Given the description of an element on the screen output the (x, y) to click on. 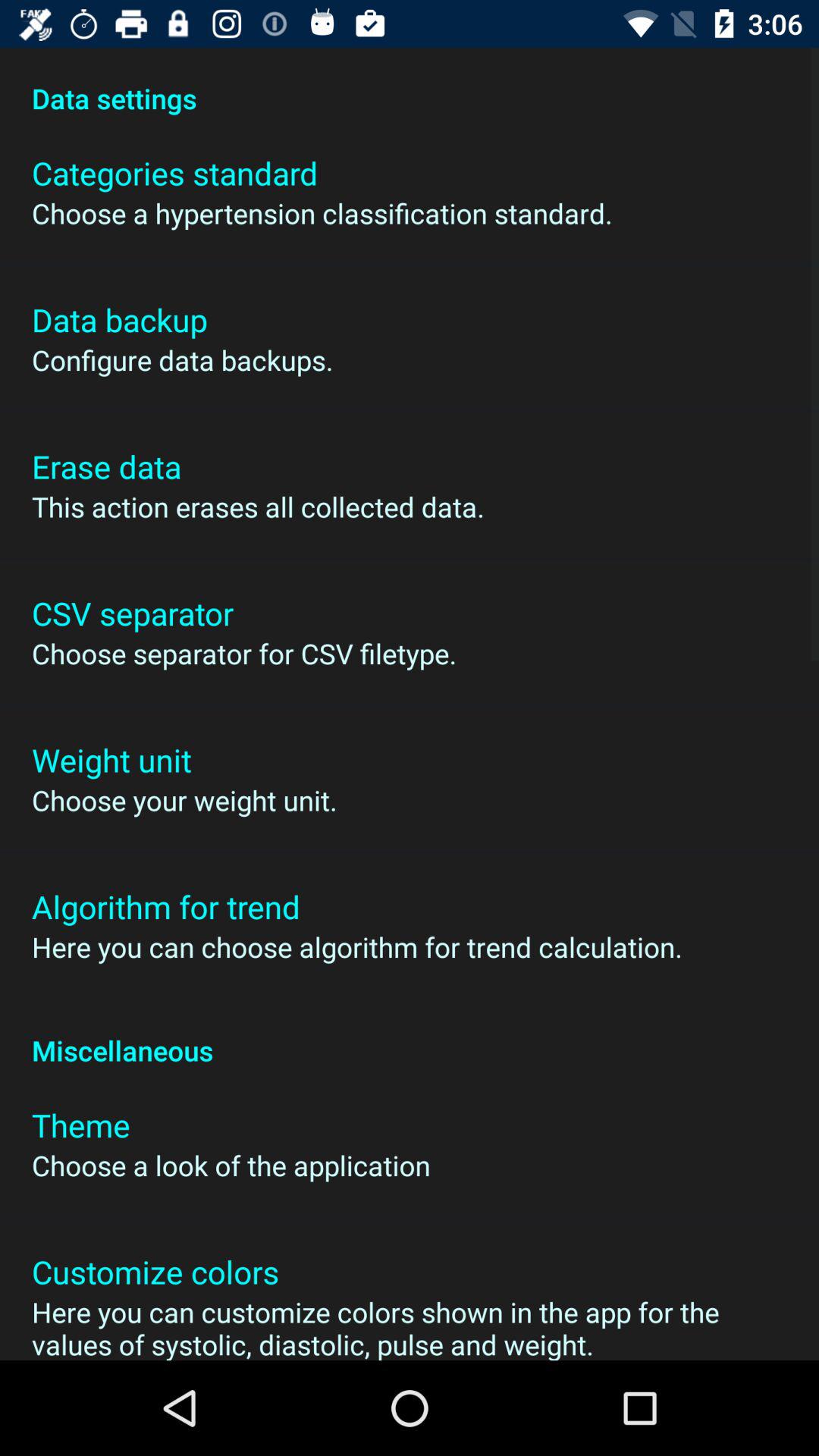
tap icon below configure data backups. (106, 465)
